Given the description of an element on the screen output the (x, y) to click on. 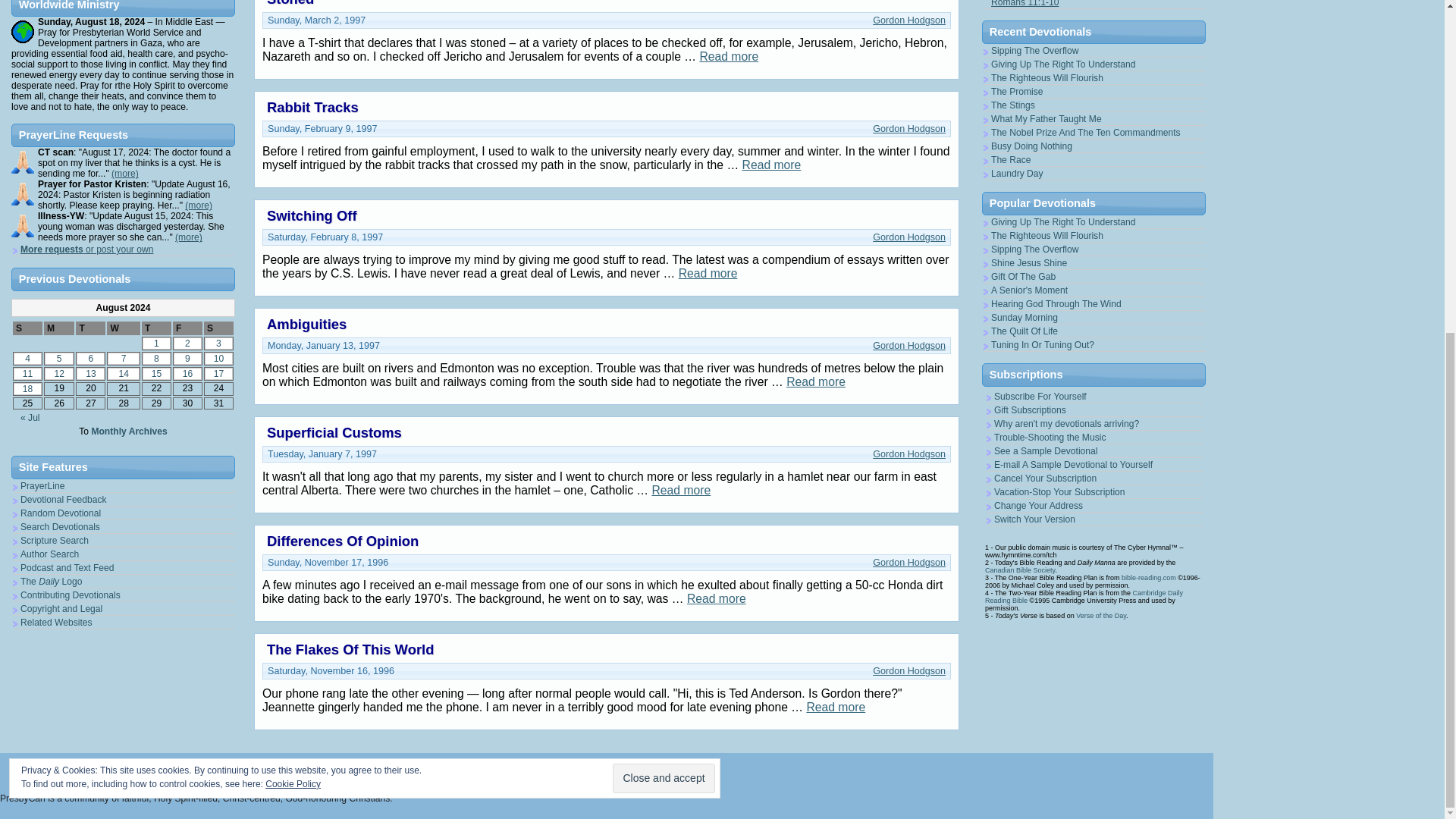
Posts by Gordon Hodgson (908, 670)
Rabbit Tracks (312, 107)
Posts by Gordon Hodgson (908, 20)
Read more (728, 56)
Stoned (290, 3)
Posts by Gordon Hodgson (908, 128)
Posts by Gordon Hodgson (908, 345)
Read more (716, 598)
Superficial Customs (333, 432)
Posts by Gordon Hodgson (908, 562)
